Given the description of an element on the screen output the (x, y) to click on. 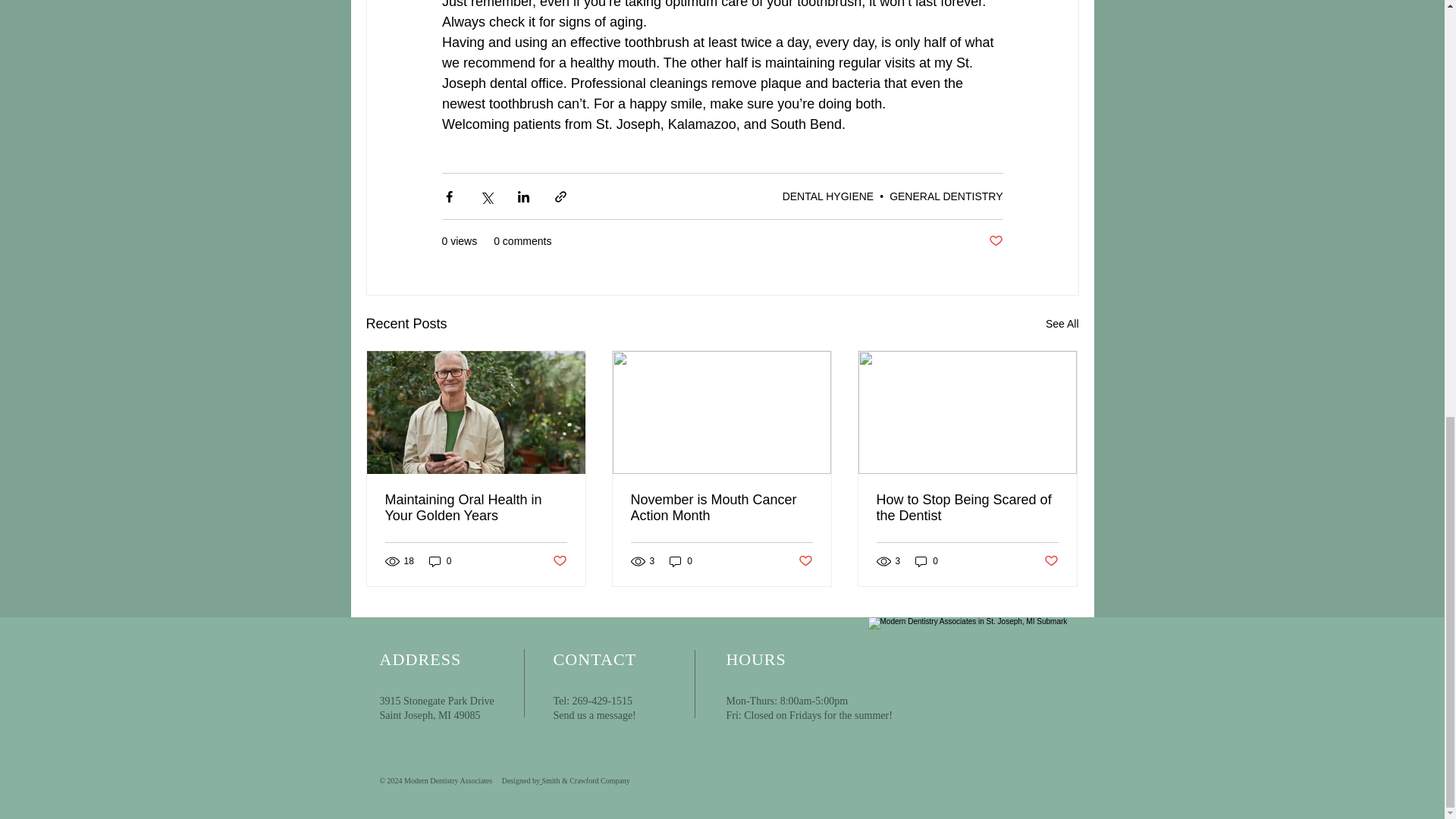
GENERAL DENTISTRY (946, 196)
Post not marked as liked (995, 241)
DENTAL HYGIENE (829, 196)
See All (1061, 323)
